Given the description of an element on the screen output the (x, y) to click on. 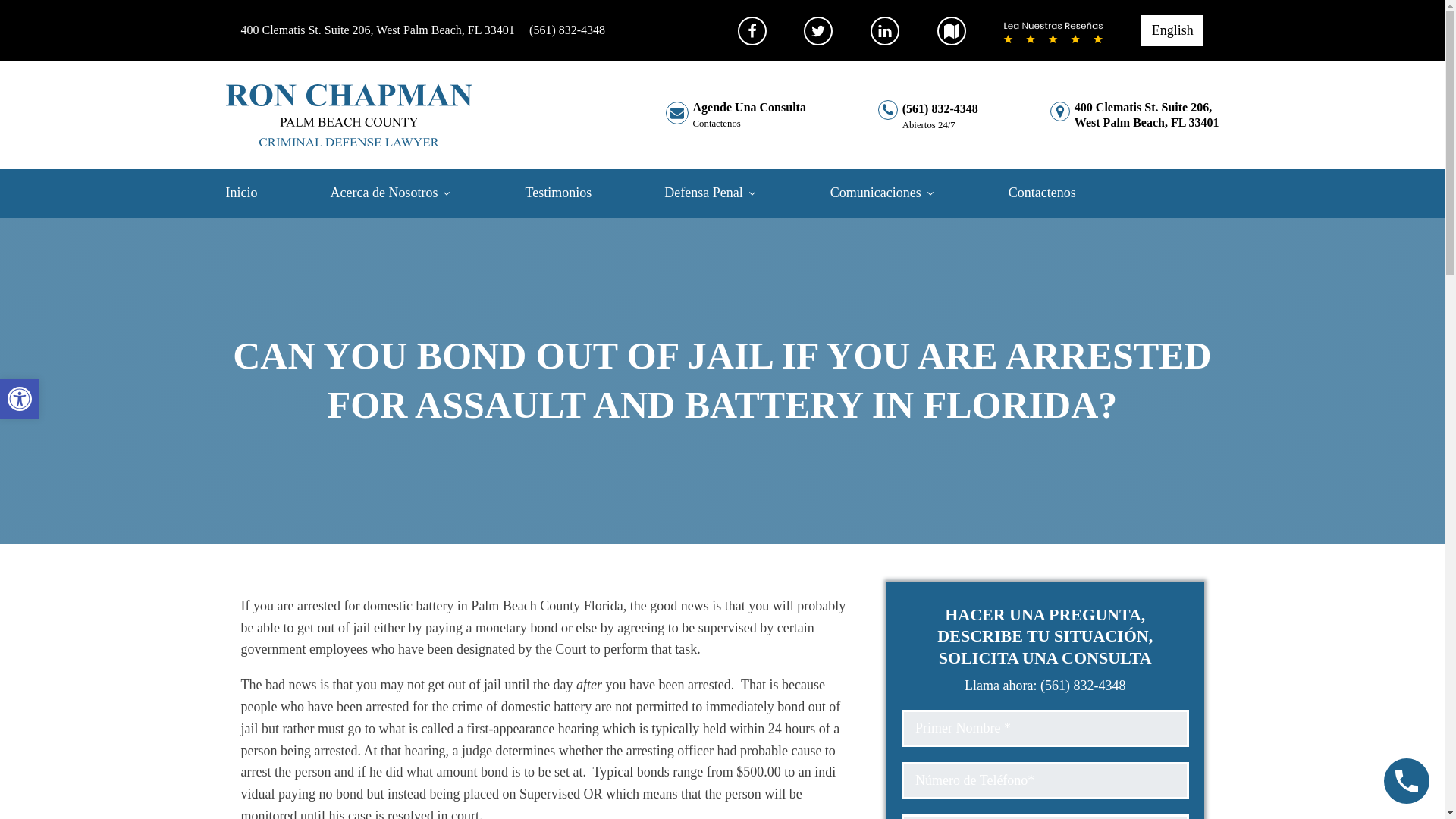
Acerca de Nosotros (412, 192)
English (1172, 30)
Testimonios (1134, 115)
400 Clematis St. Suite 206, West Palm Beach, FL 33401 (578, 192)
Accessibility Tools (378, 29)
Defensa Penal (19, 398)
Inicio (731, 192)
Accessibility Tools (262, 192)
